Given the description of an element on the screen output the (x, y) to click on. 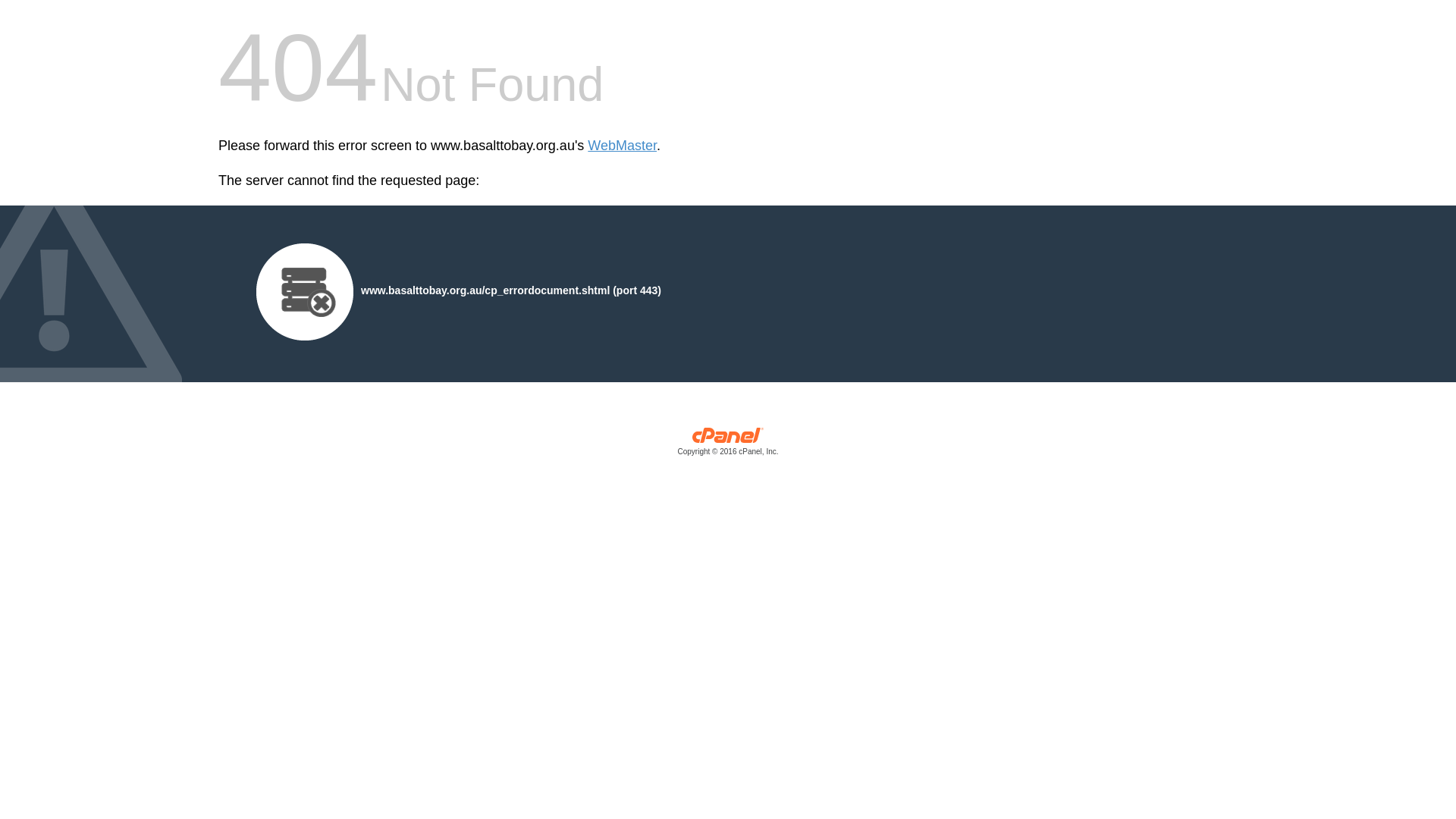
WebMaster Element type: text (621, 145)
